Given the description of an element on the screen output the (x, y) to click on. 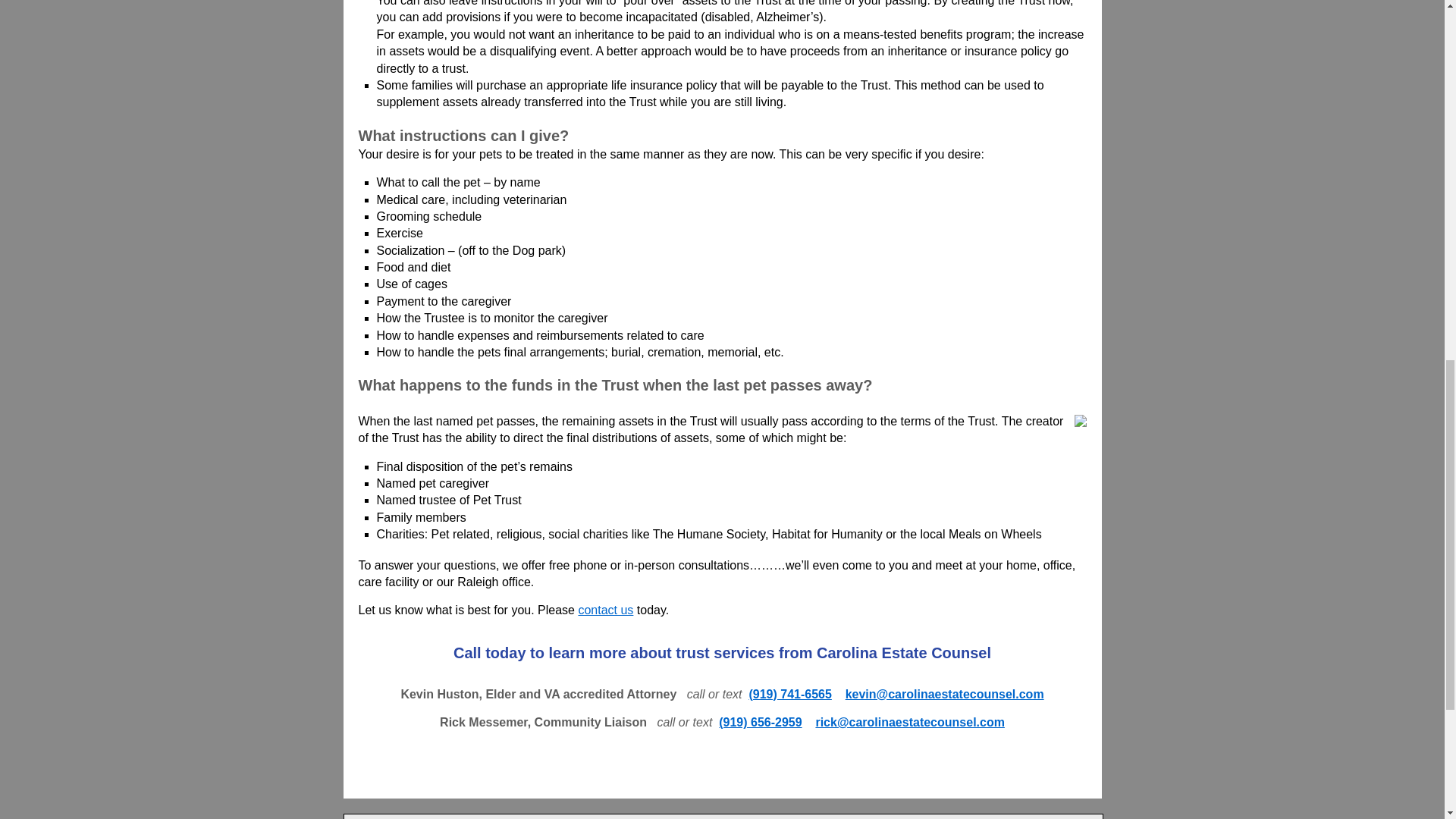
contact us (605, 609)
